Given the description of an element on the screen output the (x, y) to click on. 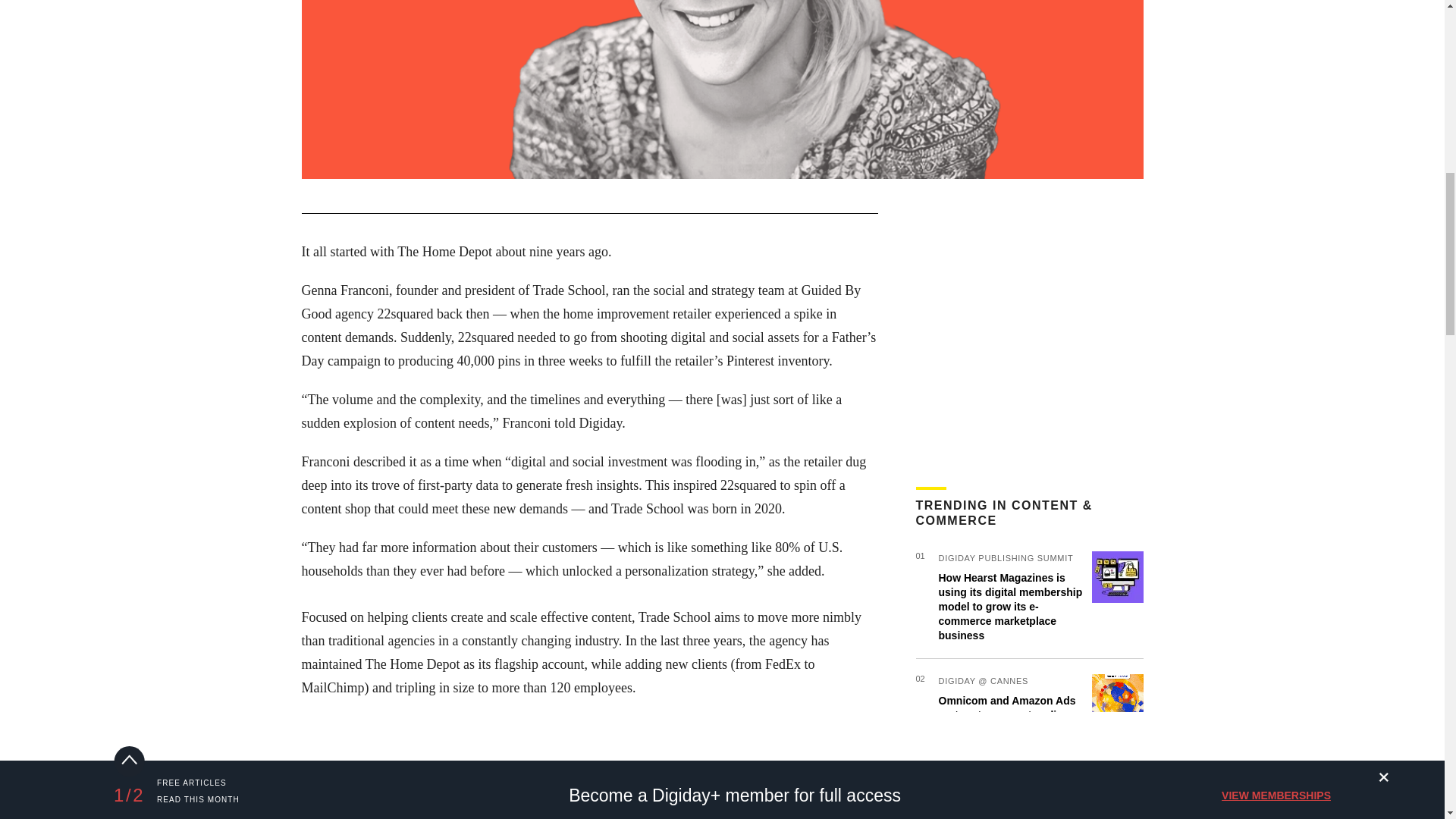
How brands are addressing the content landfill problem (1008, 811)
